Given the description of an element on the screen output the (x, y) to click on. 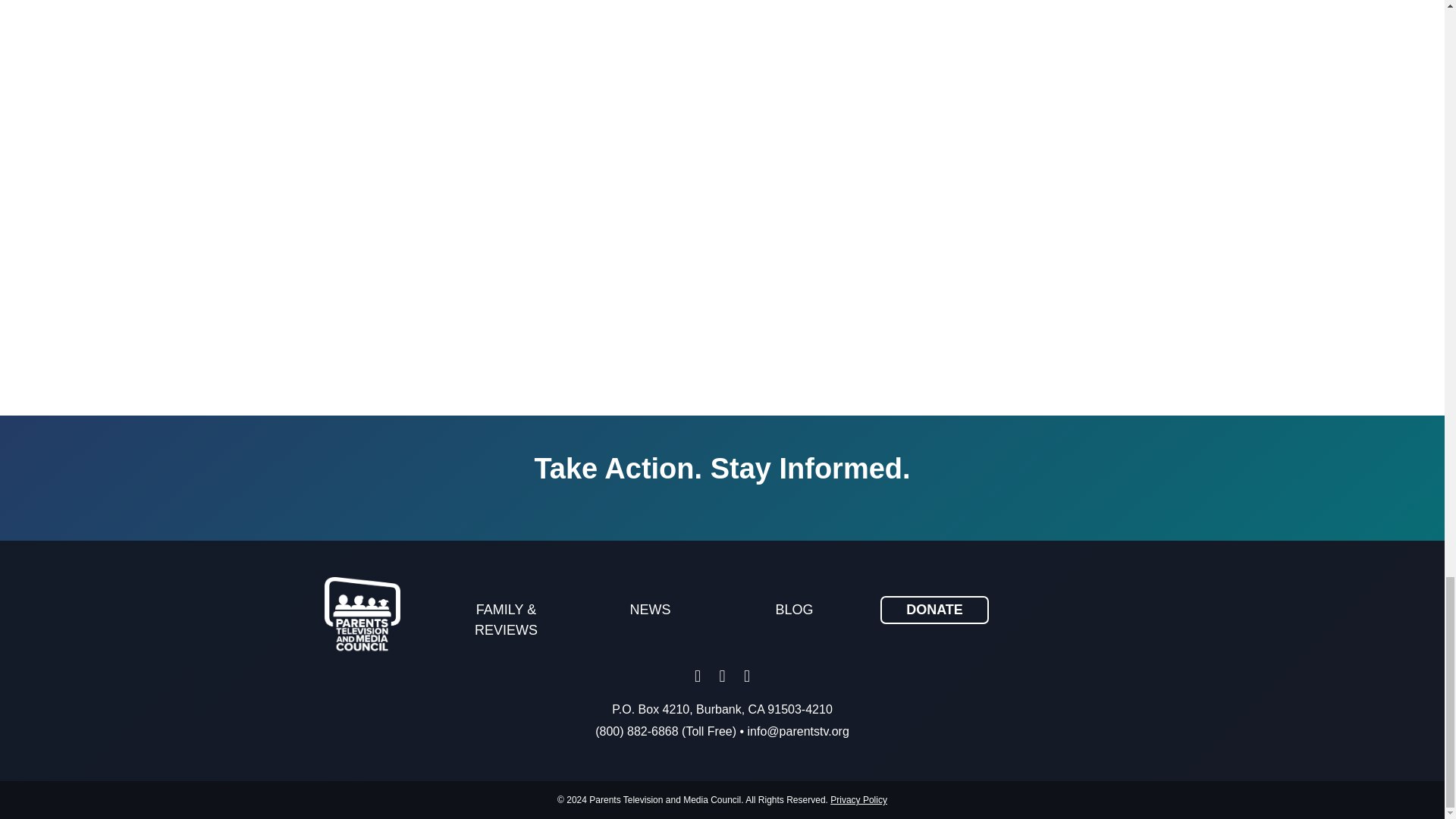
BLOG (794, 609)
NEWS (650, 609)
DONATE (934, 610)
